Given the description of an element on the screen output the (x, y) to click on. 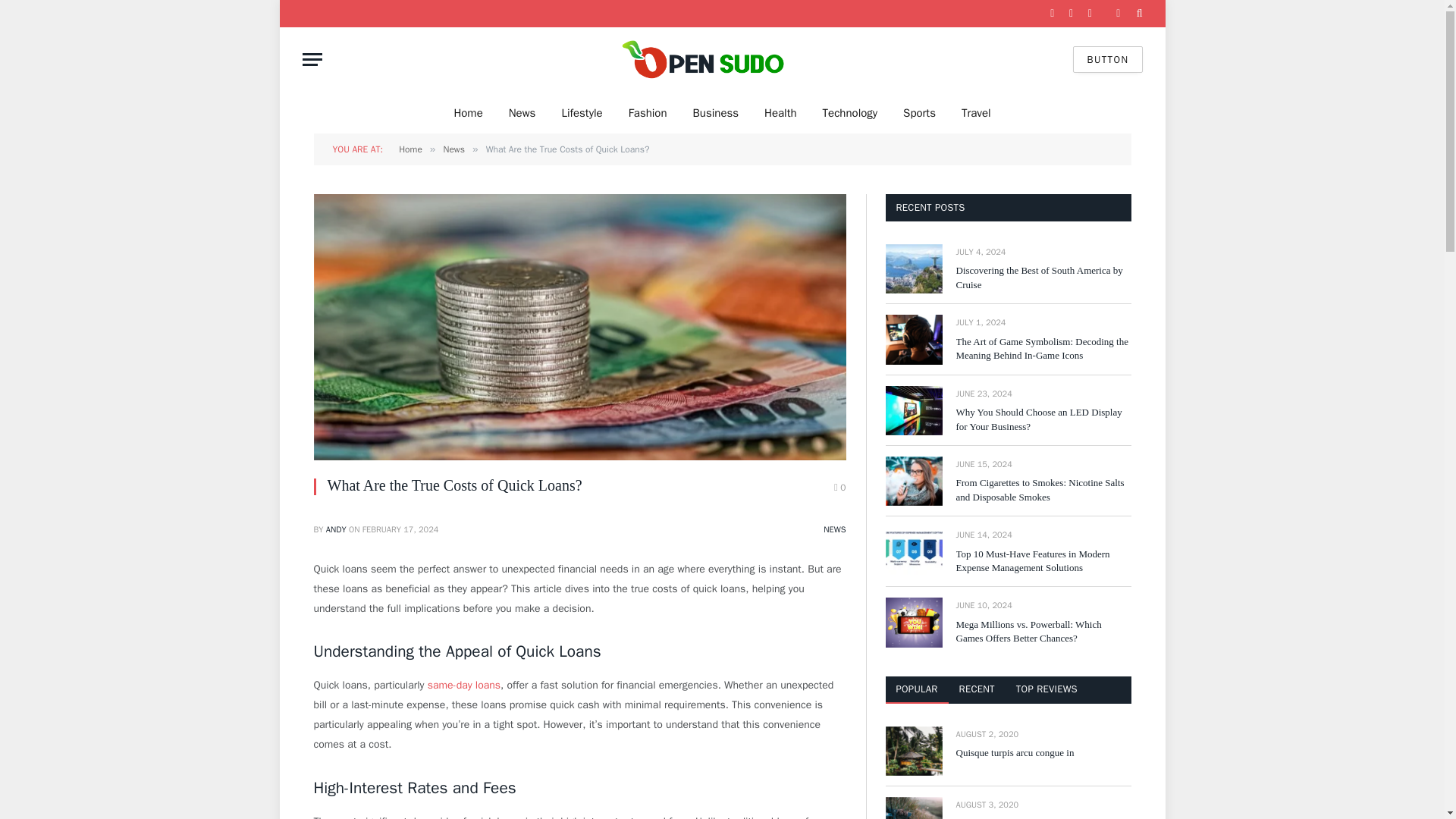
2024-02-17 (400, 529)
Sports (919, 112)
News (522, 112)
Health (780, 112)
Facebook (1052, 13)
News (453, 149)
Fashion (647, 112)
Home (468, 112)
Posts by Andy (336, 529)
Switch to Dark Design - easier on eyes. (1117, 13)
Lifestyle (581, 112)
BUTTON (1107, 58)
Travel (976, 112)
0 (839, 487)
Business (715, 112)
